Given the description of an element on the screen output the (x, y) to click on. 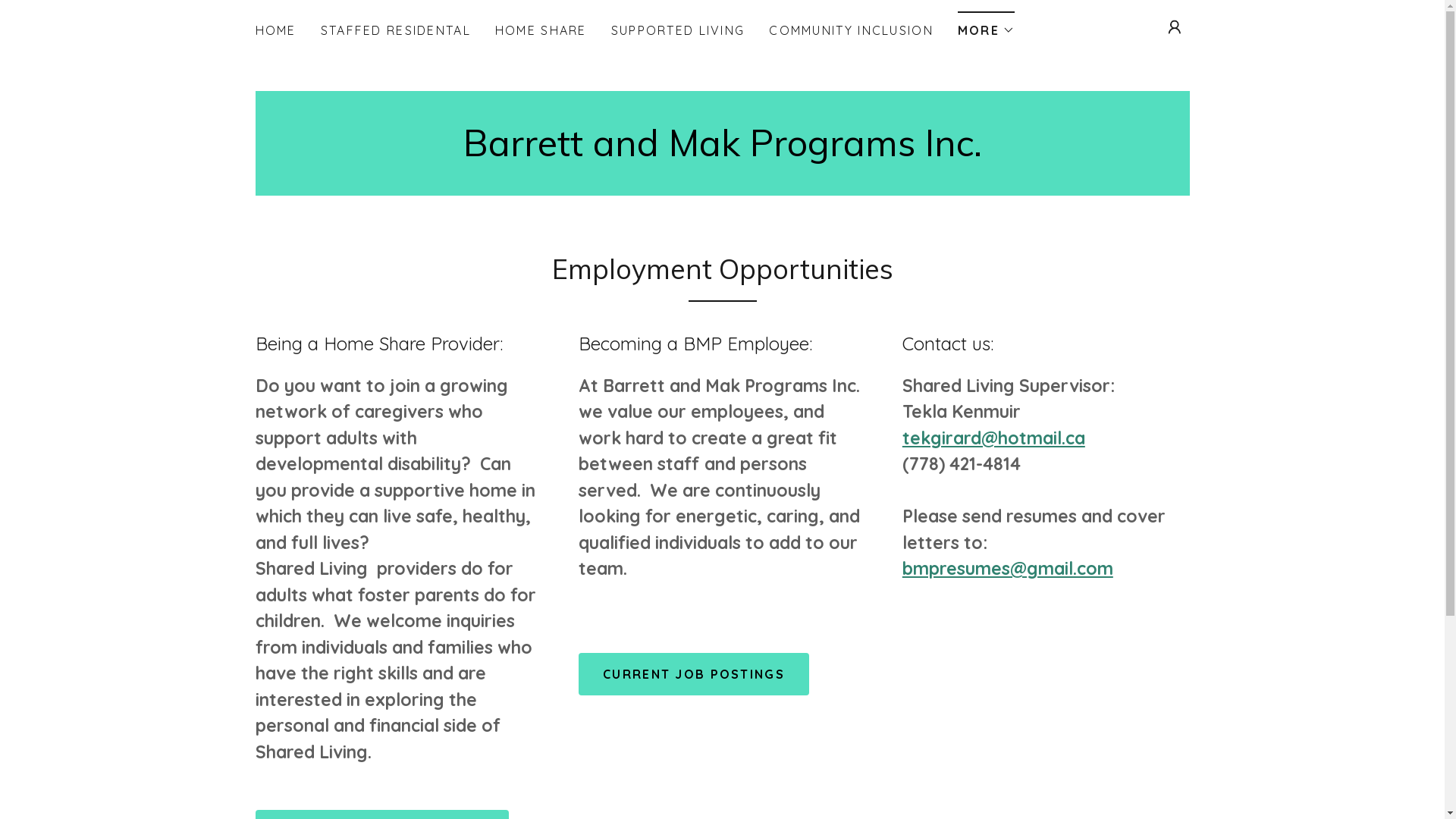
HOME SHARE Element type: text (540, 29)
HOME Element type: text (275, 29)
MORE Element type: text (985, 25)
STAFFED RESIDENTAL Element type: text (395, 29)
Barrett and Mak Programs Inc. Element type: text (721, 151)
tekgirard@hotmail.ca Element type: text (993, 437)
COMMUNITY INCLUSION Element type: text (850, 29)
CURRENT JOB POSTINGS Element type: text (693, 673)
bmpresumes@gmail.com Element type: text (1007, 568)
SUPPORTED LIVING Element type: text (677, 29)
